Given the description of an element on the screen output the (x, y) to click on. 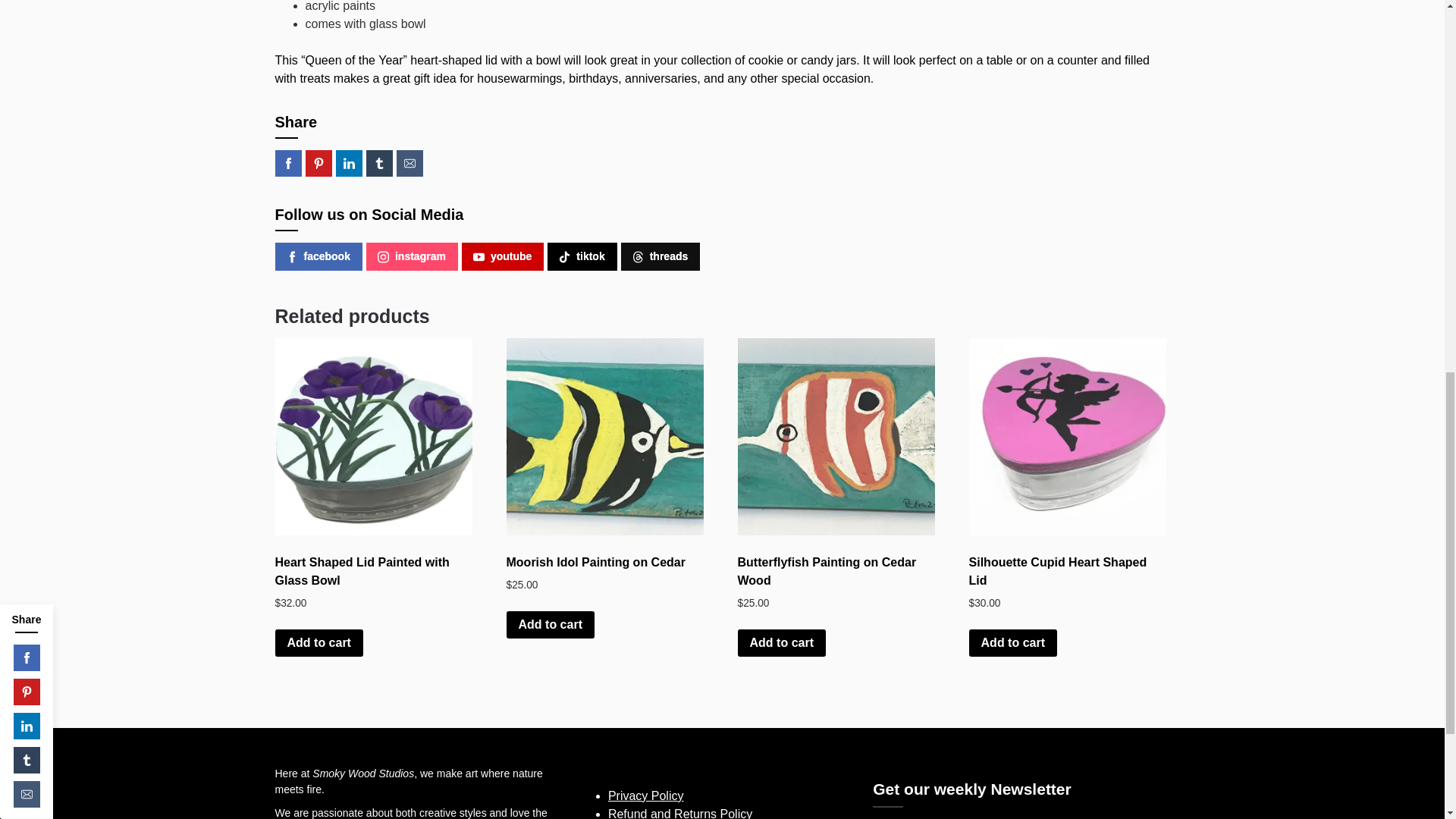
instagram (412, 256)
threads (660, 256)
youtube (502, 256)
Add to cart (781, 642)
facebook (318, 256)
Add to cart (550, 624)
tiktok (581, 256)
Add to cart (318, 642)
